Given the description of an element on the screen output the (x, y) to click on. 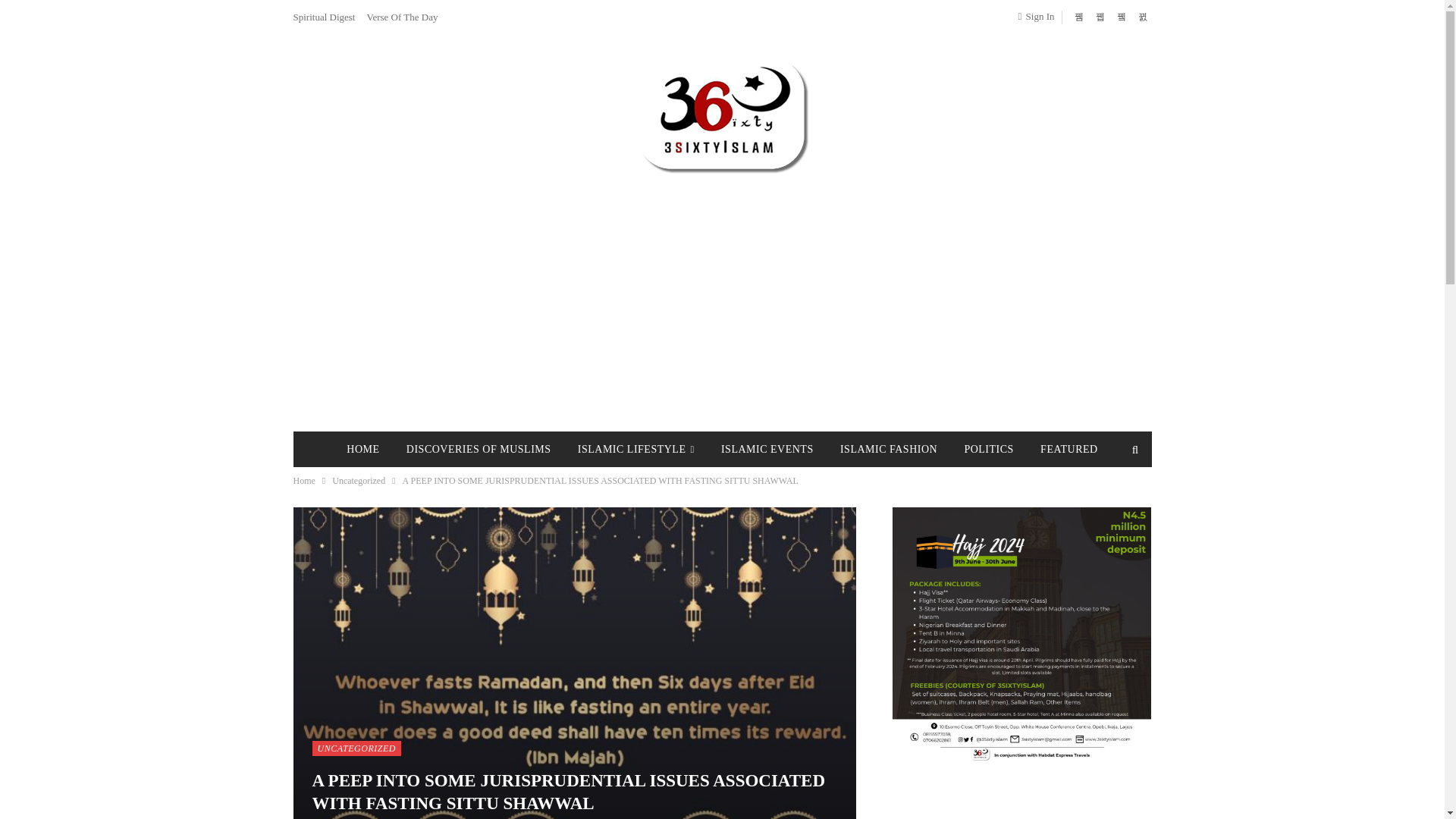
POLITICS (988, 449)
FEATURED (1068, 449)
ISLAMIC LIFESTYLE (636, 449)
DISCOVERIES OF MUSLIMS (478, 449)
UNCATEGORIZED (357, 748)
Verse Of The Day (402, 16)
Sign In (1039, 16)
ISLAMIC EVENTS (766, 449)
Home (303, 480)
Spiritual Digest (323, 16)
ISLAMIC FASHION (888, 449)
Uncategorized (358, 480)
HOME (362, 449)
